Given the description of an element on the screen output the (x, y) to click on. 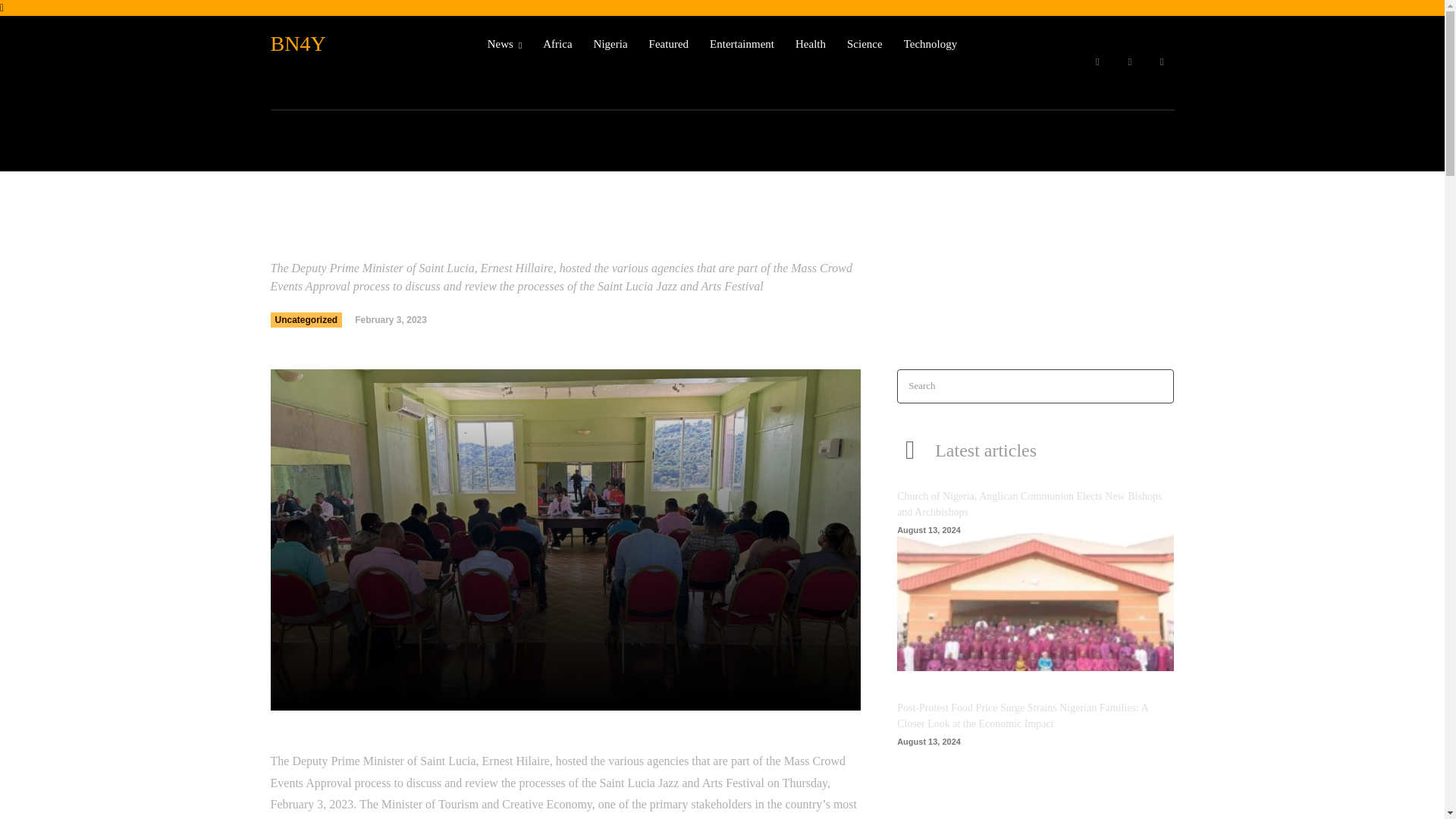
Entertainment (742, 43)
Twitter (1162, 62)
Uncategorized (305, 319)
Facebook (1096, 62)
Technology (931, 43)
BN4Y (345, 44)
Instagram (1130, 62)
